Given the description of an element on the screen output the (x, y) to click on. 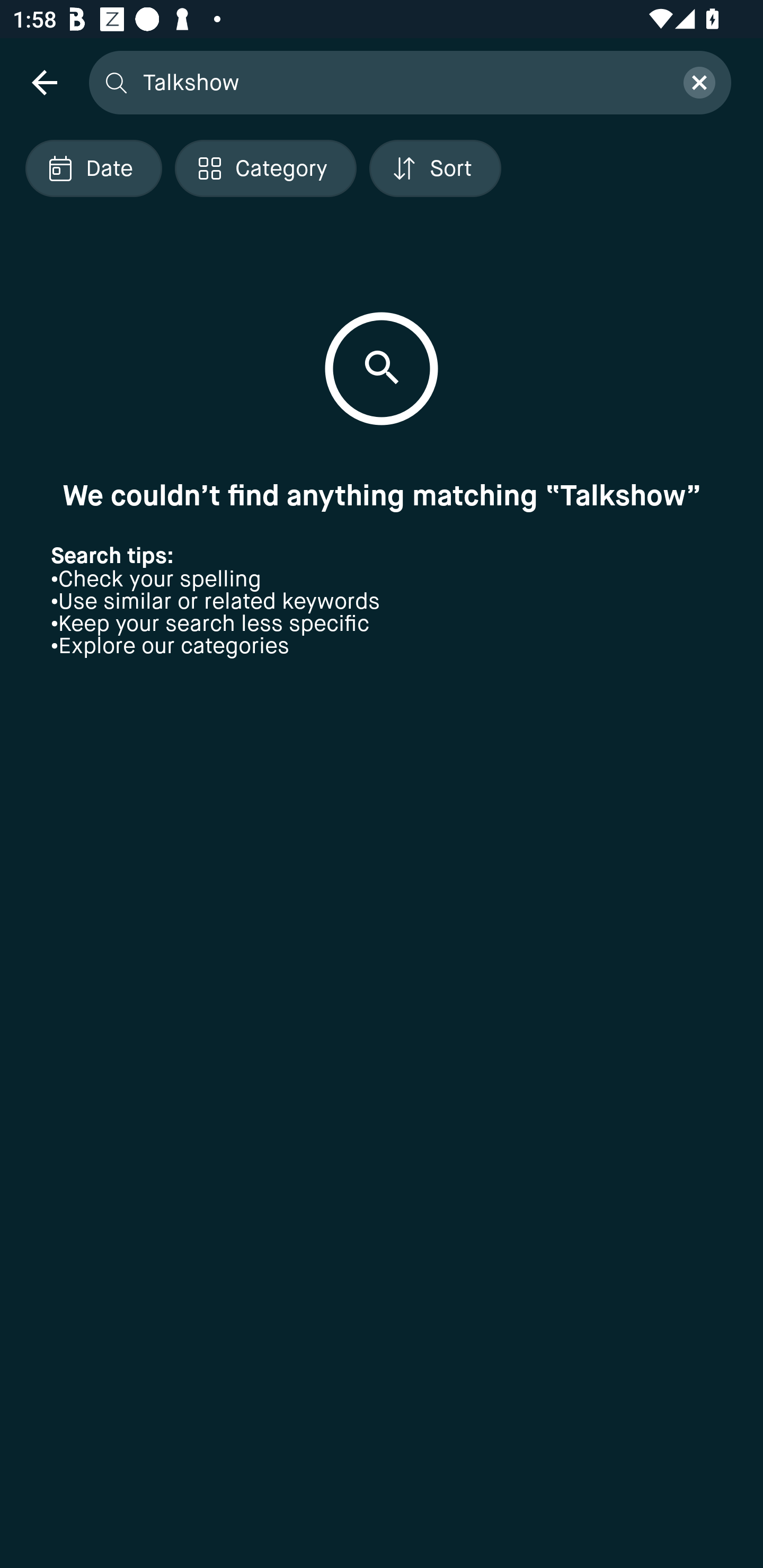
navigation icon (44, 81)
Talkshow (402, 81)
Localized description Date (93, 168)
Localized description Category (265, 168)
Localized description Sort (435, 168)
We couldn’t find anything matching “Talkshow” (381, 495)
